Given the description of an element on the screen output the (x, y) to click on. 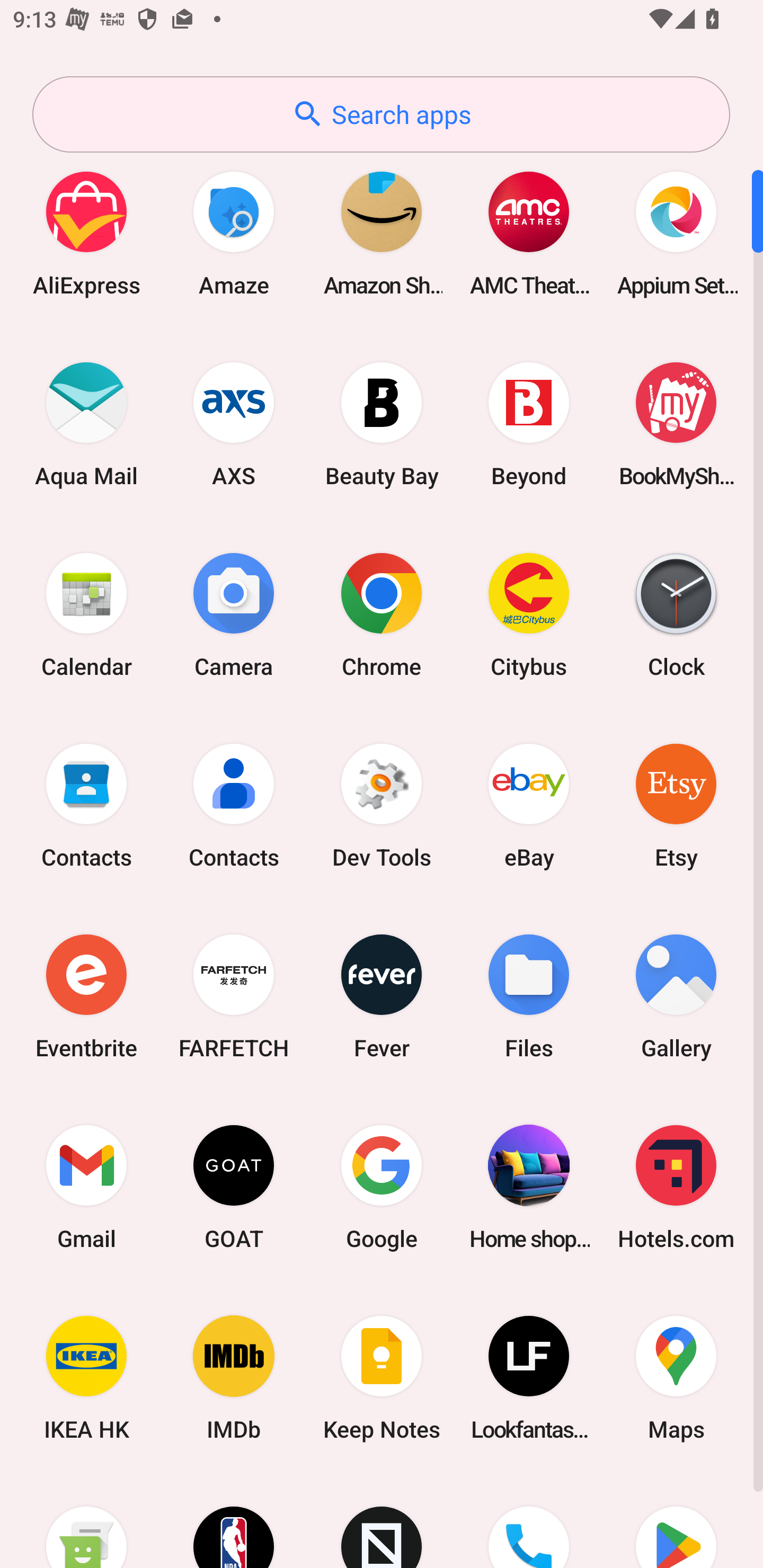
  Search apps (381, 114)
AliExpress (86, 233)
Amaze (233, 233)
Amazon Shopping (381, 233)
AMC Theatres (528, 233)
Appium Settings (676, 233)
Aqua Mail (86, 424)
AXS (233, 424)
Beauty Bay (381, 424)
Beyond (528, 424)
BookMyShow (676, 424)
Calendar (86, 614)
Camera (233, 614)
Chrome (381, 614)
Citybus (528, 614)
Clock (676, 614)
Contacts (86, 805)
Contacts (233, 805)
Dev Tools (381, 805)
eBay (528, 805)
Etsy (676, 805)
Eventbrite (86, 996)
FARFETCH (233, 996)
Fever (381, 996)
Files (528, 996)
Gallery (676, 996)
Gmail (86, 1186)
GOAT (233, 1186)
Google (381, 1186)
Home shopping (528, 1186)
Hotels.com (676, 1186)
IKEA HK (86, 1377)
IMDb (233, 1377)
Keep Notes (381, 1377)
Lookfantastic (528, 1377)
Maps (676, 1377)
Messaging (86, 1520)
NBA (233, 1520)
Novelship (381, 1520)
Phone (528, 1520)
Play Store (676, 1520)
